Given the description of an element on the screen output the (x, y) to click on. 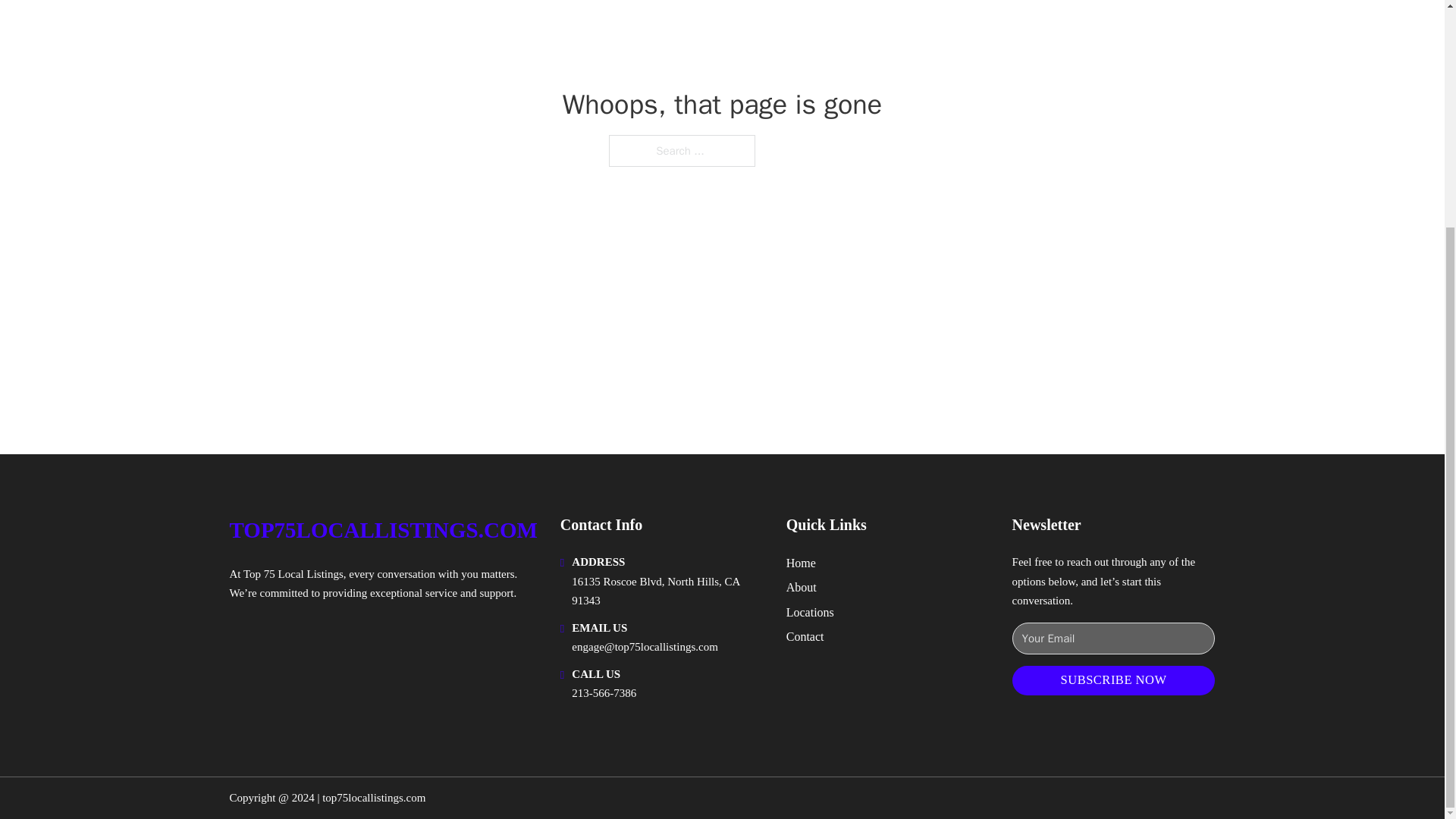
SUBSCRIBE NOW (1113, 680)
213-566-7386 (604, 693)
TOP75LOCALLISTINGS.COM (382, 529)
Home (800, 562)
Contact (805, 636)
About (801, 587)
Locations (810, 611)
